Given the description of an element on the screen output the (x, y) to click on. 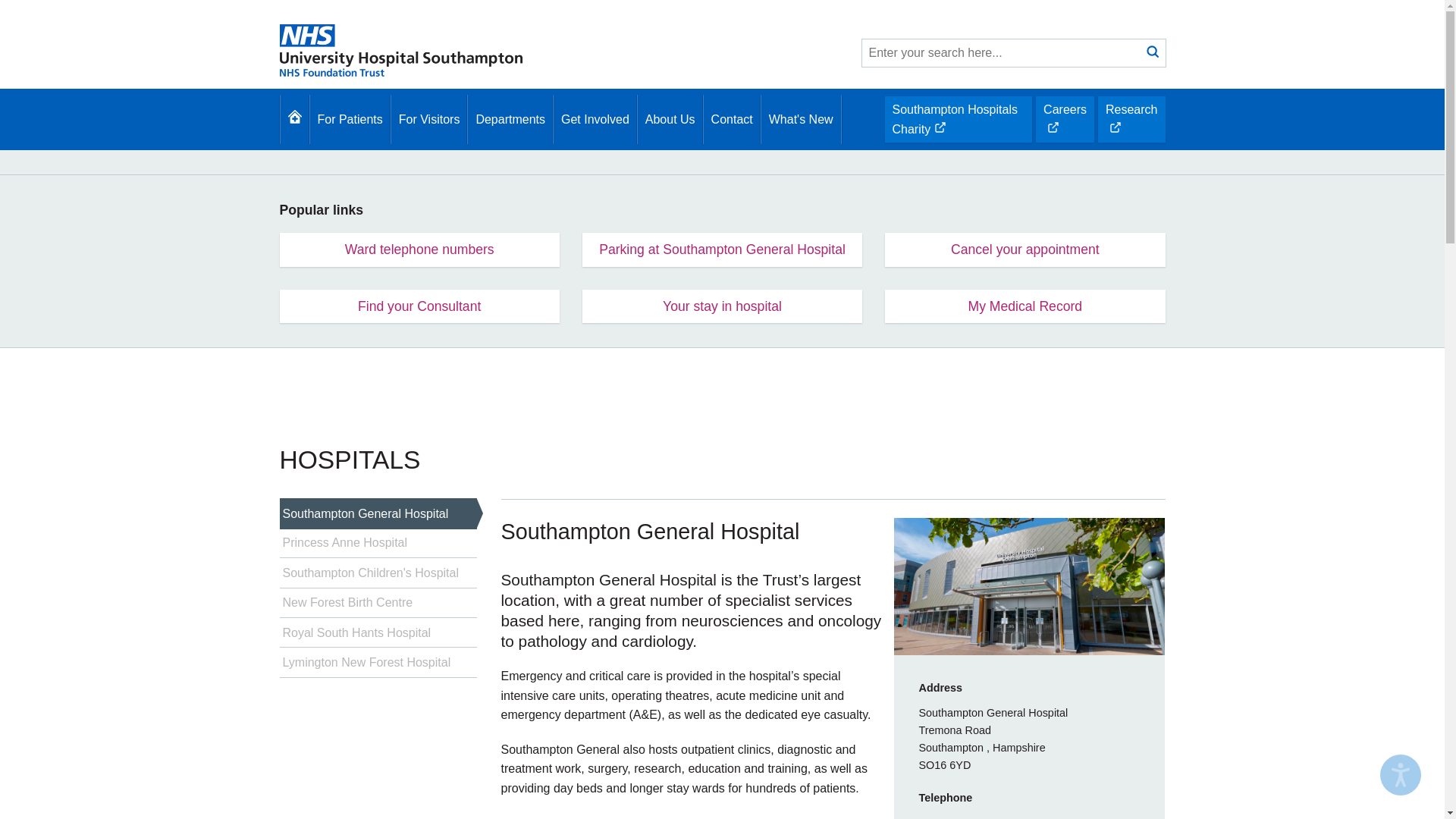
New Forest Birth Centre (377, 603)
Southampton General Hospital (377, 512)
About Us (670, 119)
My Medical Record (1024, 305)
Get Involved (595, 119)
Parking at Southampton General Hospital (1064, 119)
What's New (721, 249)
Lymington New Forest Hospital (800, 119)
Departments (377, 662)
Royal South Hants Hospital (510, 119)
Ward telephone numbers (377, 632)
Find your Consultant (419, 249)
